Given the description of an element on the screen output the (x, y) to click on. 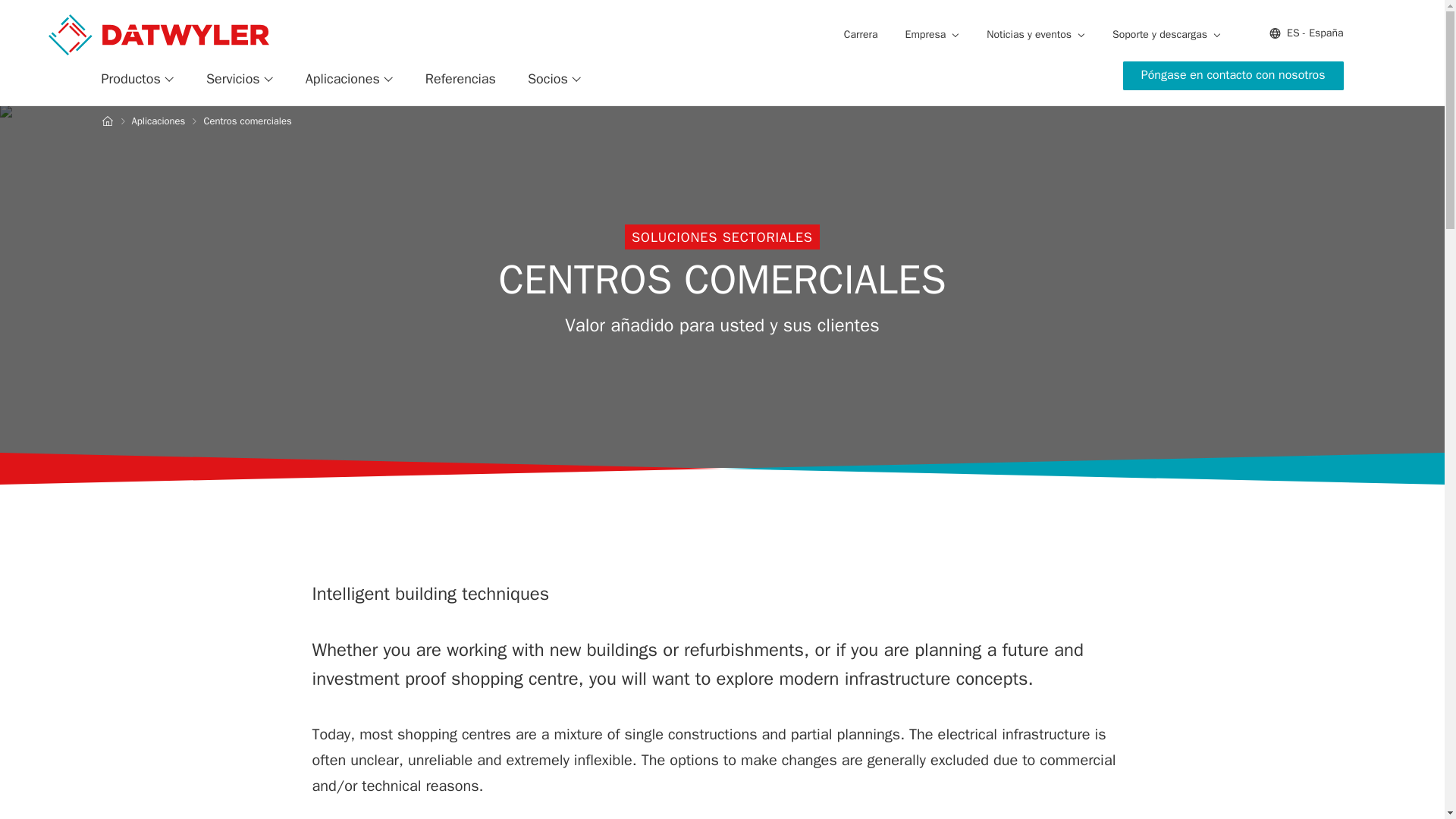
Aplicaciones (349, 78)
Servicios (239, 78)
Productos (137, 78)
